Given the description of an element on the screen output the (x, y) to click on. 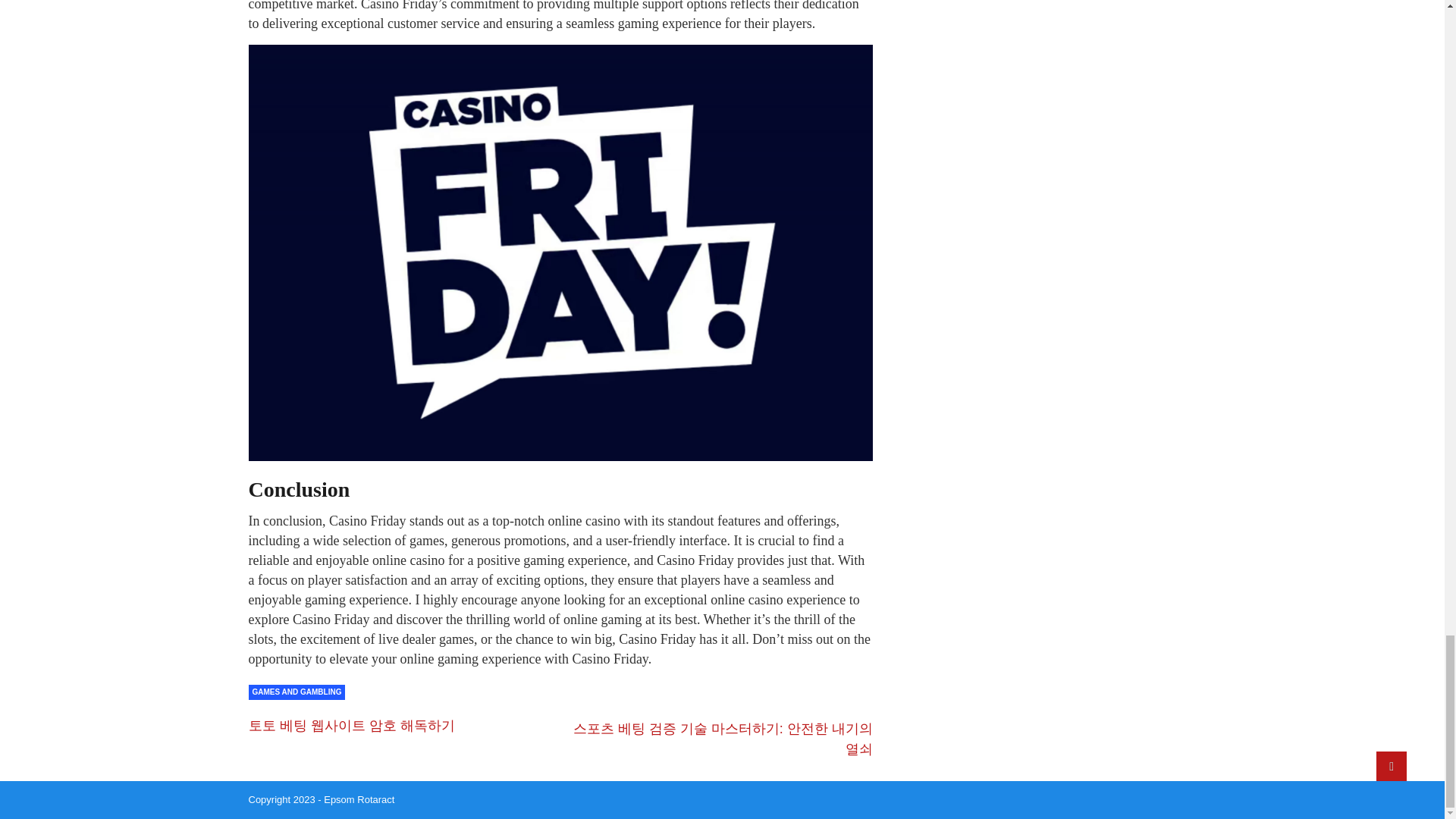
GAMES AND GAMBLING (297, 692)
